Given the description of an element on the screen output the (x, y) to click on. 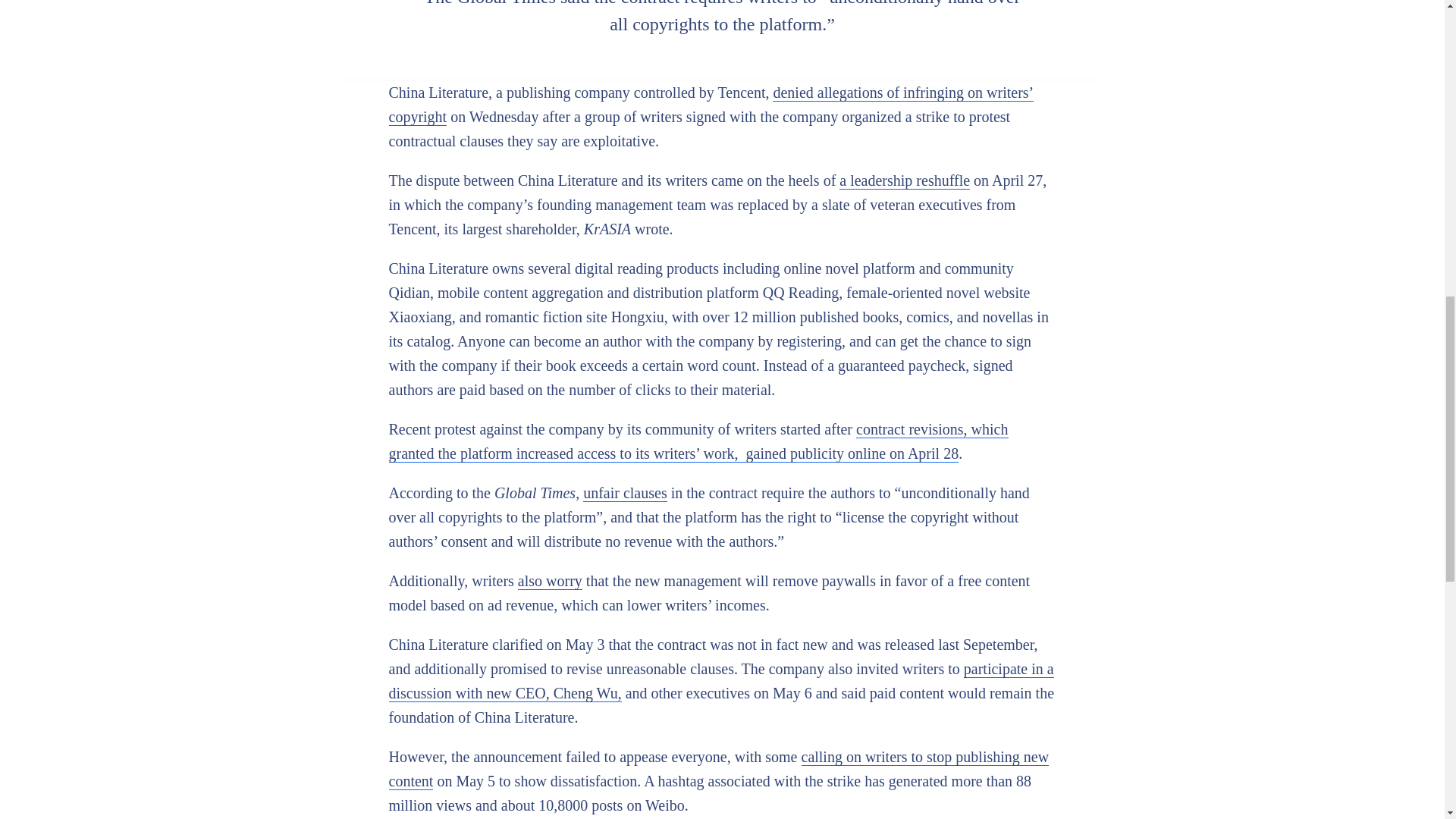
a leadership reshuffle (904, 180)
also worry (550, 580)
participate in a discussion with new CEO, Cheng Wu, (720, 680)
unfair clauses (624, 493)
calling on writers to stop publishing new content (718, 769)
